Given the description of an element on the screen output the (x, y) to click on. 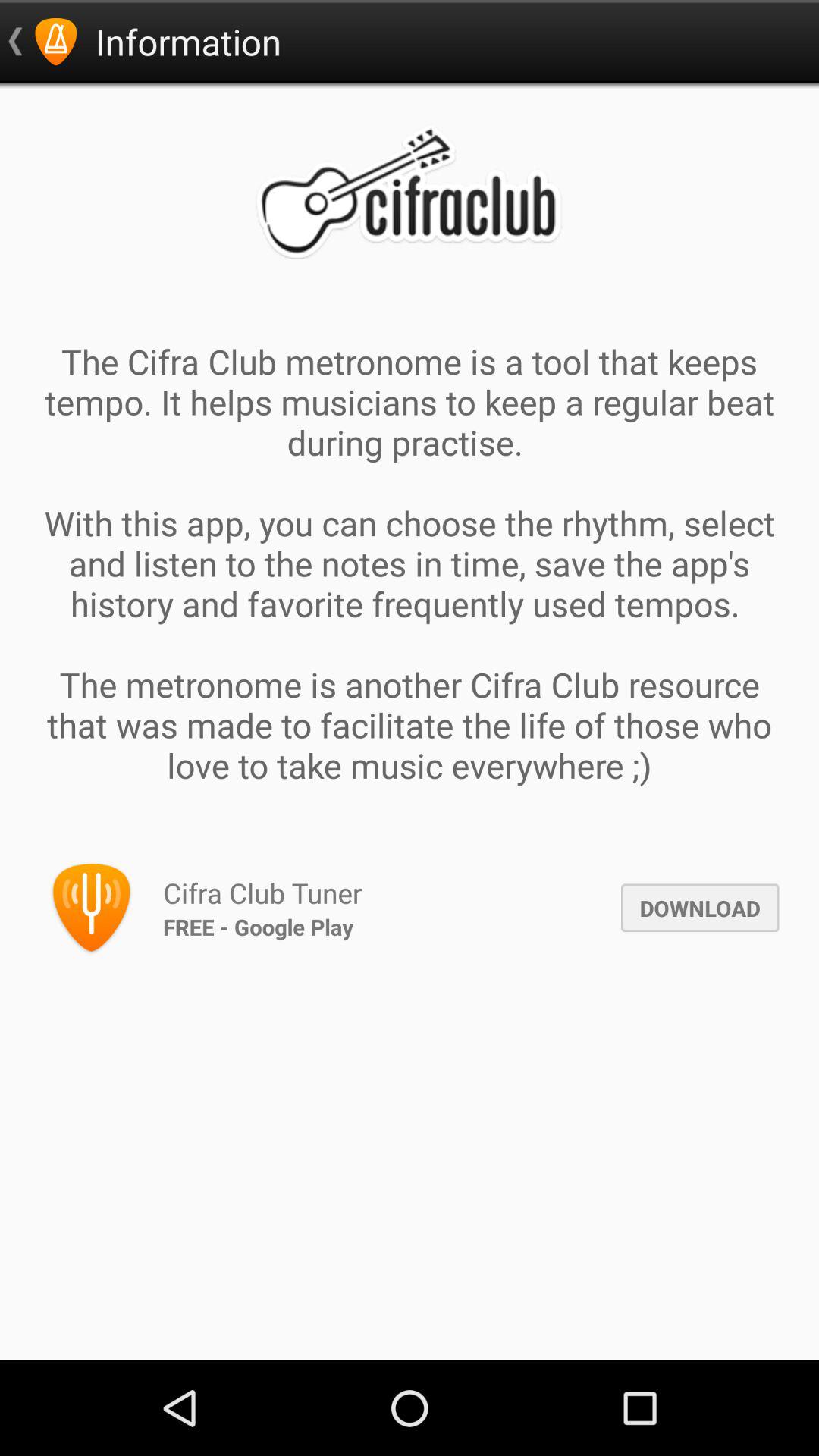
click the icon on the right (700, 907)
